Given the description of an element on the screen output the (x, y) to click on. 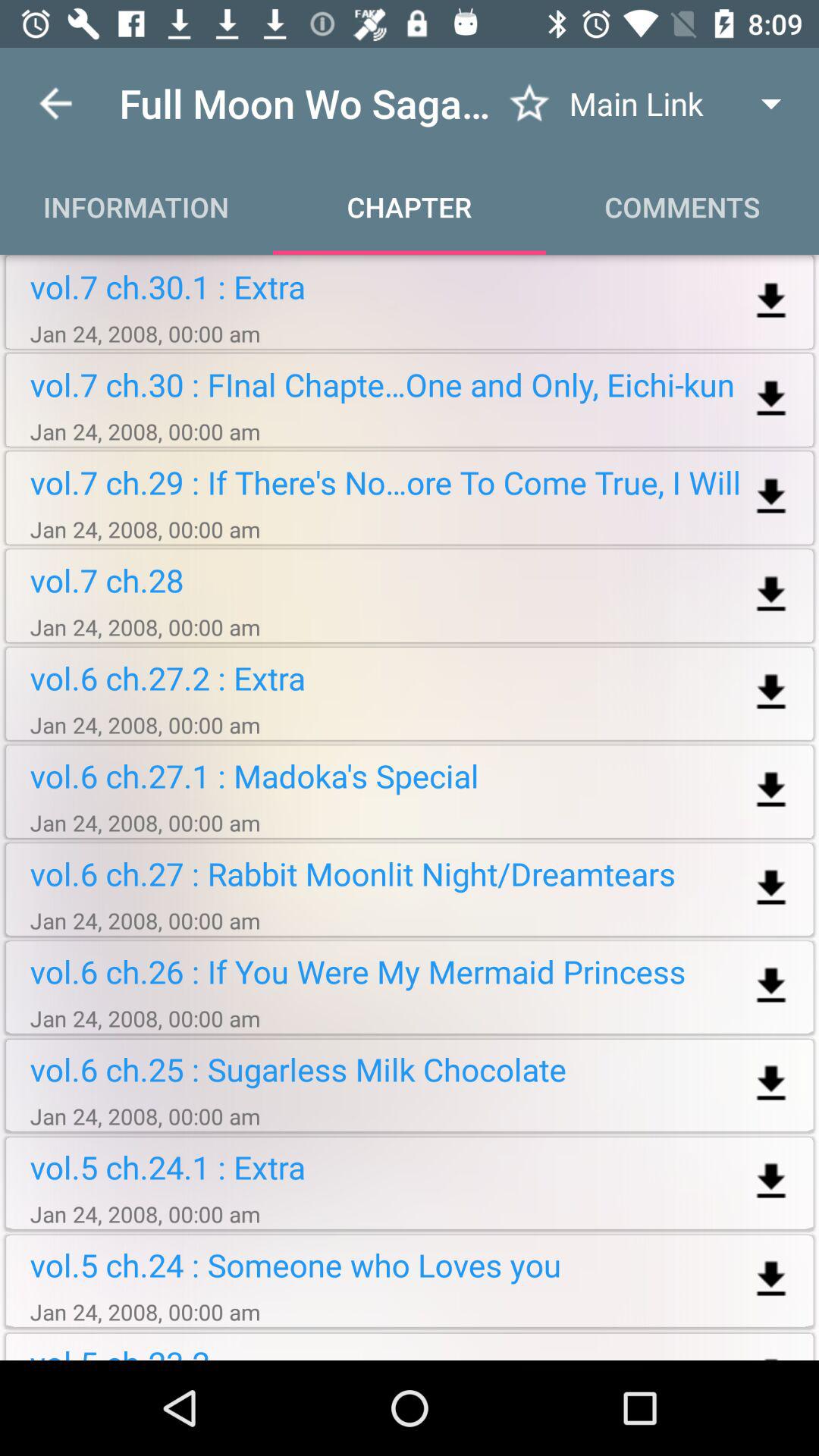
download the chapter (771, 1181)
